Given the description of an element on the screen output the (x, y) to click on. 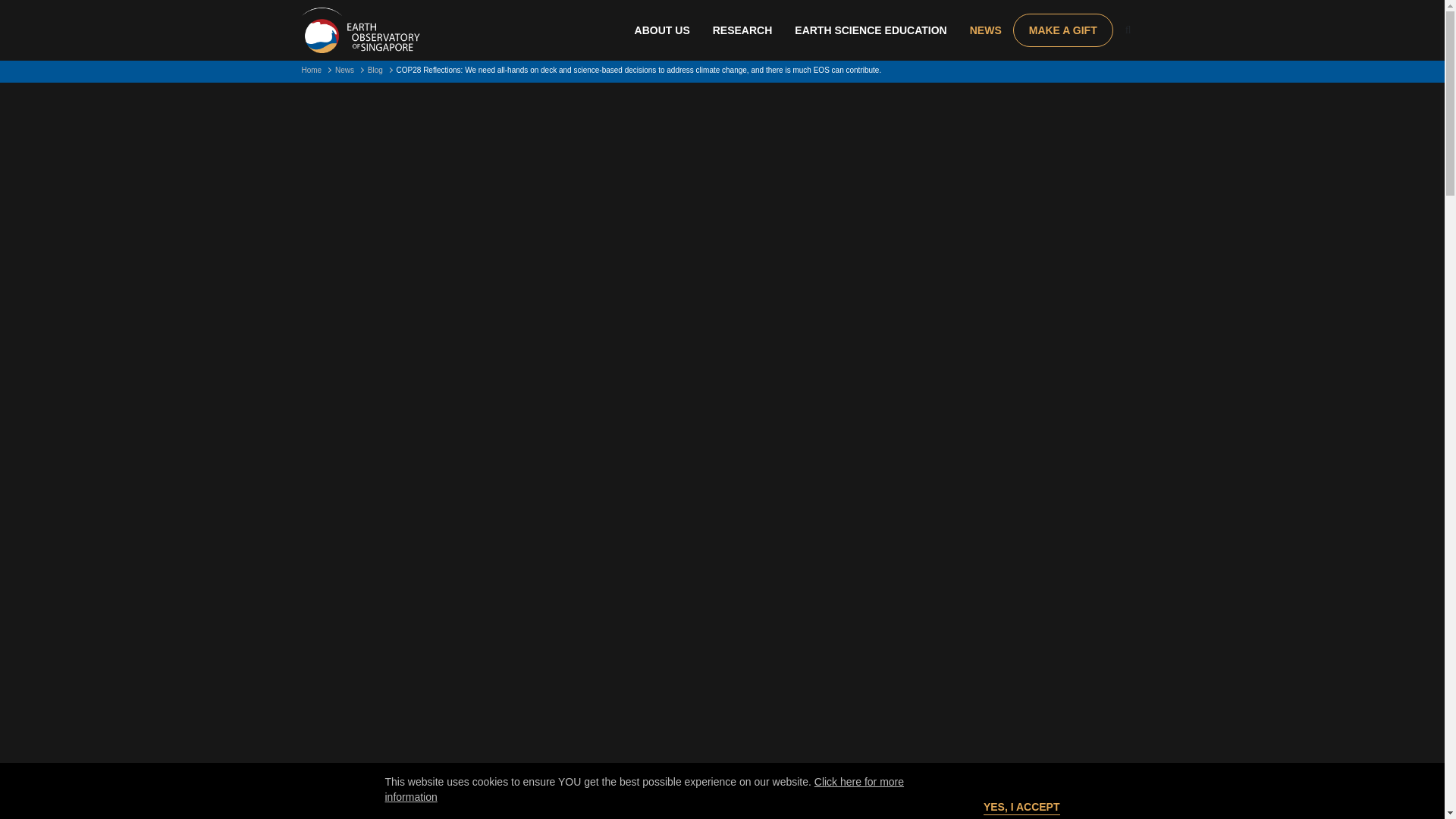
Earth Science Education (870, 29)
ABOUT US (662, 29)
MAKE A GIFT (1063, 29)
News (343, 70)
Research (742, 29)
About Us (662, 29)
NEWS (985, 29)
Earth Observatory of Singapore (360, 30)
EARTH SCIENCE EDUCATION (870, 29)
Blog (375, 70)
